Given the description of an element on the screen output the (x, y) to click on. 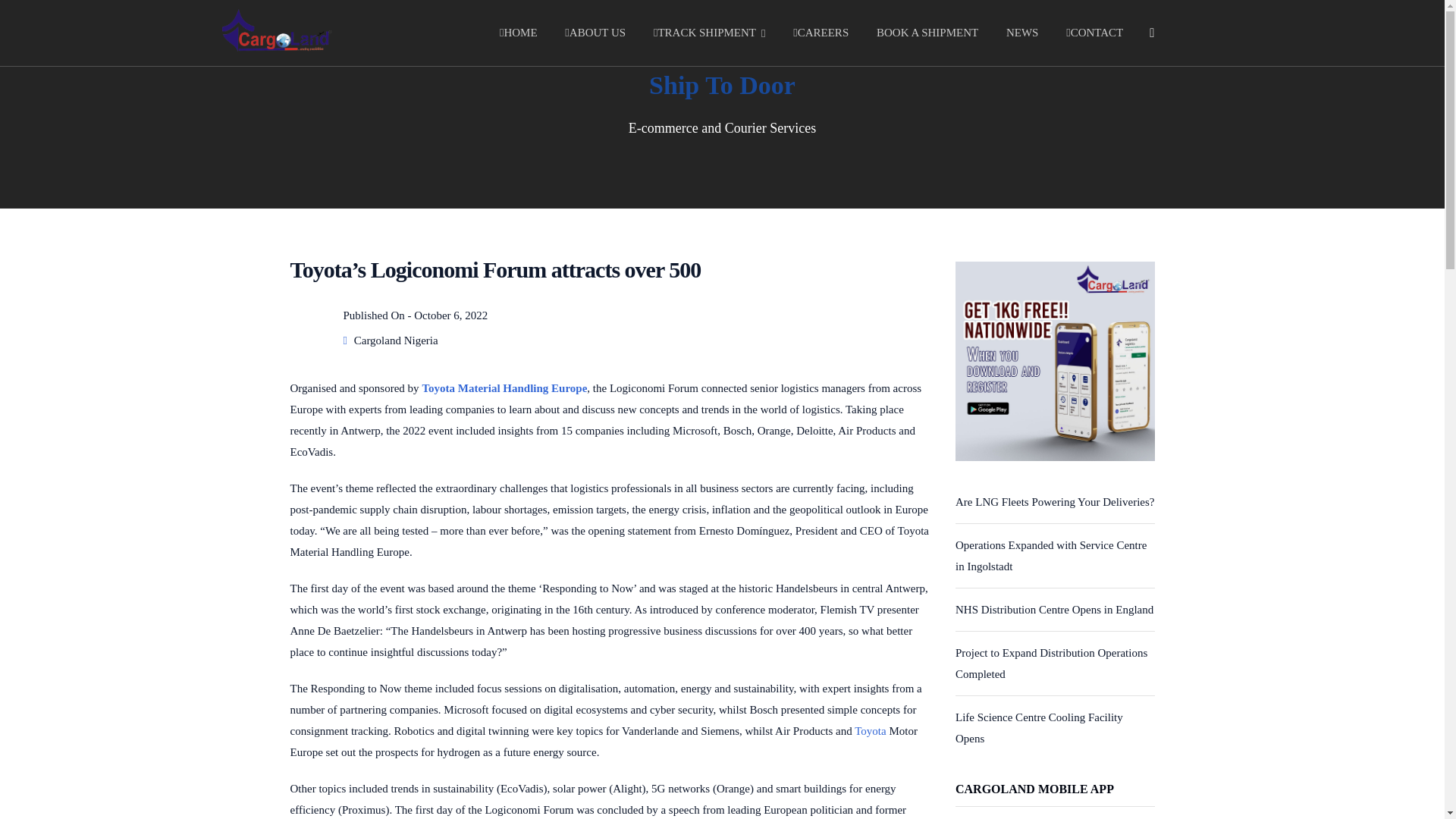
BOOK A SHIPMENT (927, 33)
TRACK SHIPMENT (709, 33)
October 6, 2022 (450, 315)
Toyota (869, 730)
Cargoland Nigeria (395, 340)
Toyota Material Handling Europe (504, 387)
ABOUT US (595, 33)
